Given the description of an element on the screen output the (x, y) to click on. 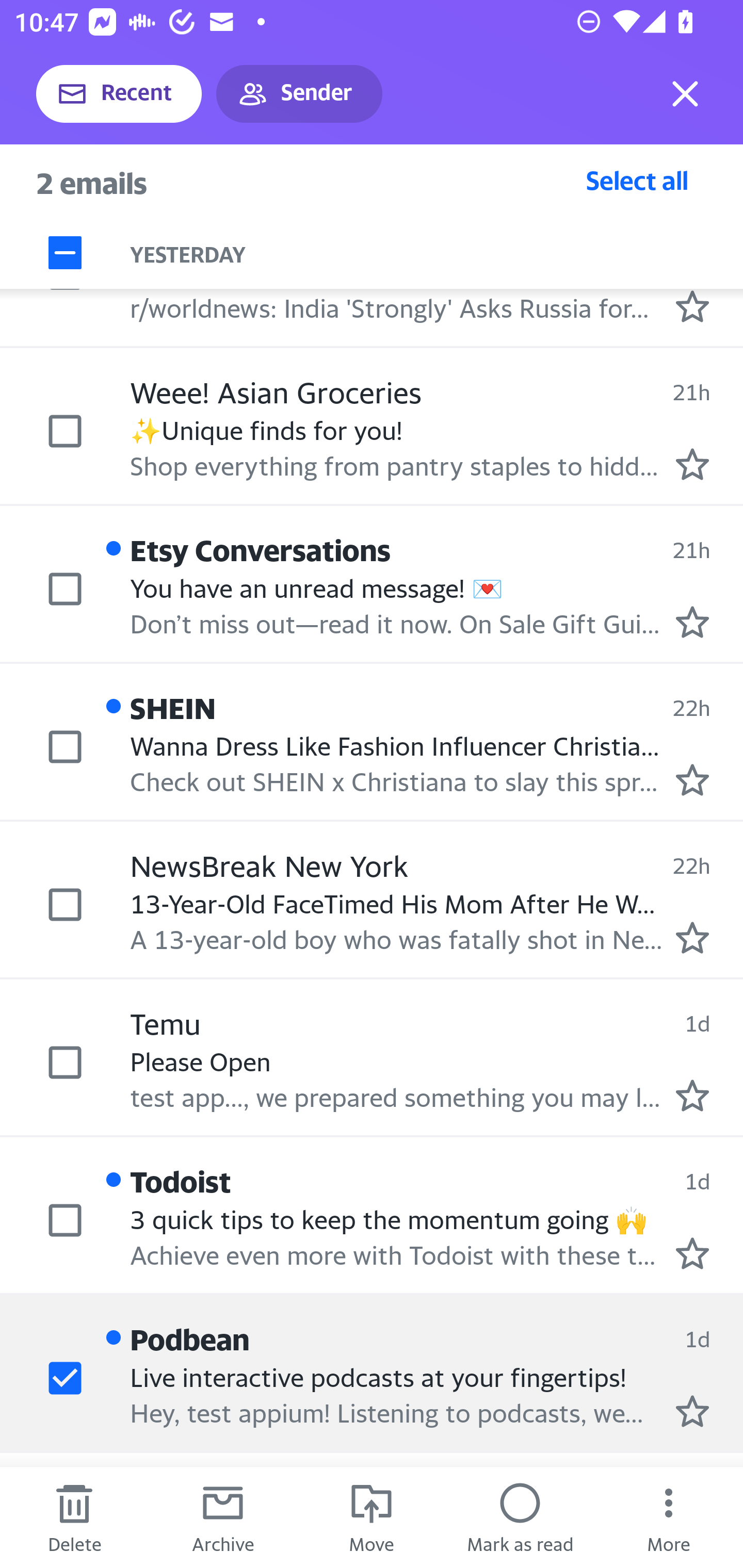
Sender (299, 93)
Exit selection mode (684, 93)
Select all (637, 180)
Mark as starred. (692, 306)
Mark as starred. (692, 464)
Mark as starred. (692, 621)
Mark as starred. (692, 780)
Mark as starred. (692, 938)
Mark as starred. (692, 1095)
Mark as starred. (692, 1253)
Mark as starred. (692, 1411)
Delete (74, 1517)
Archive (222, 1517)
Move (371, 1517)
Mark as read (519, 1517)
More (668, 1517)
